Given the description of an element on the screen output the (x, y) to click on. 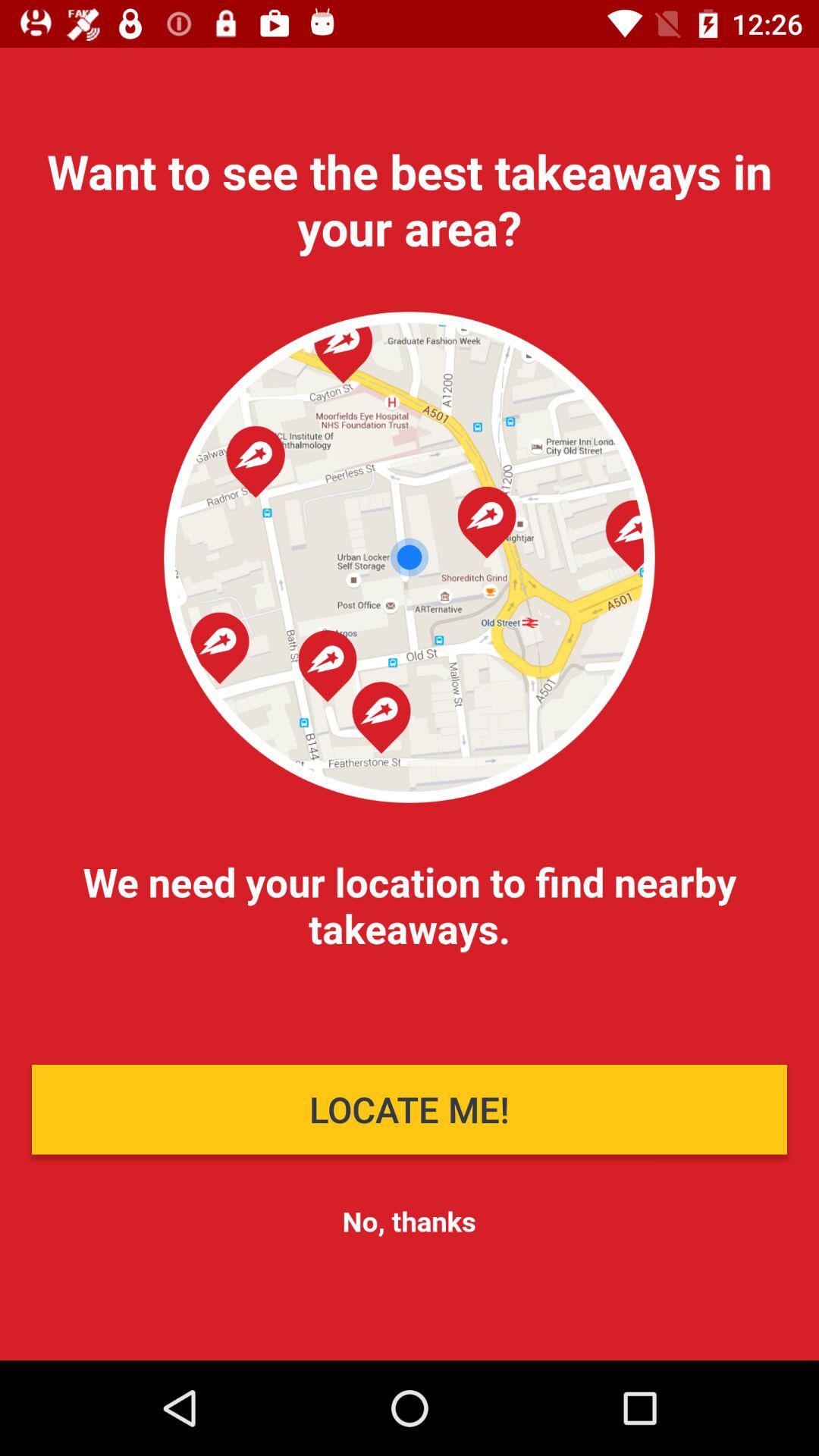
press the icon below the locate me! icon (409, 1220)
